Given the description of an element on the screen output the (x, y) to click on. 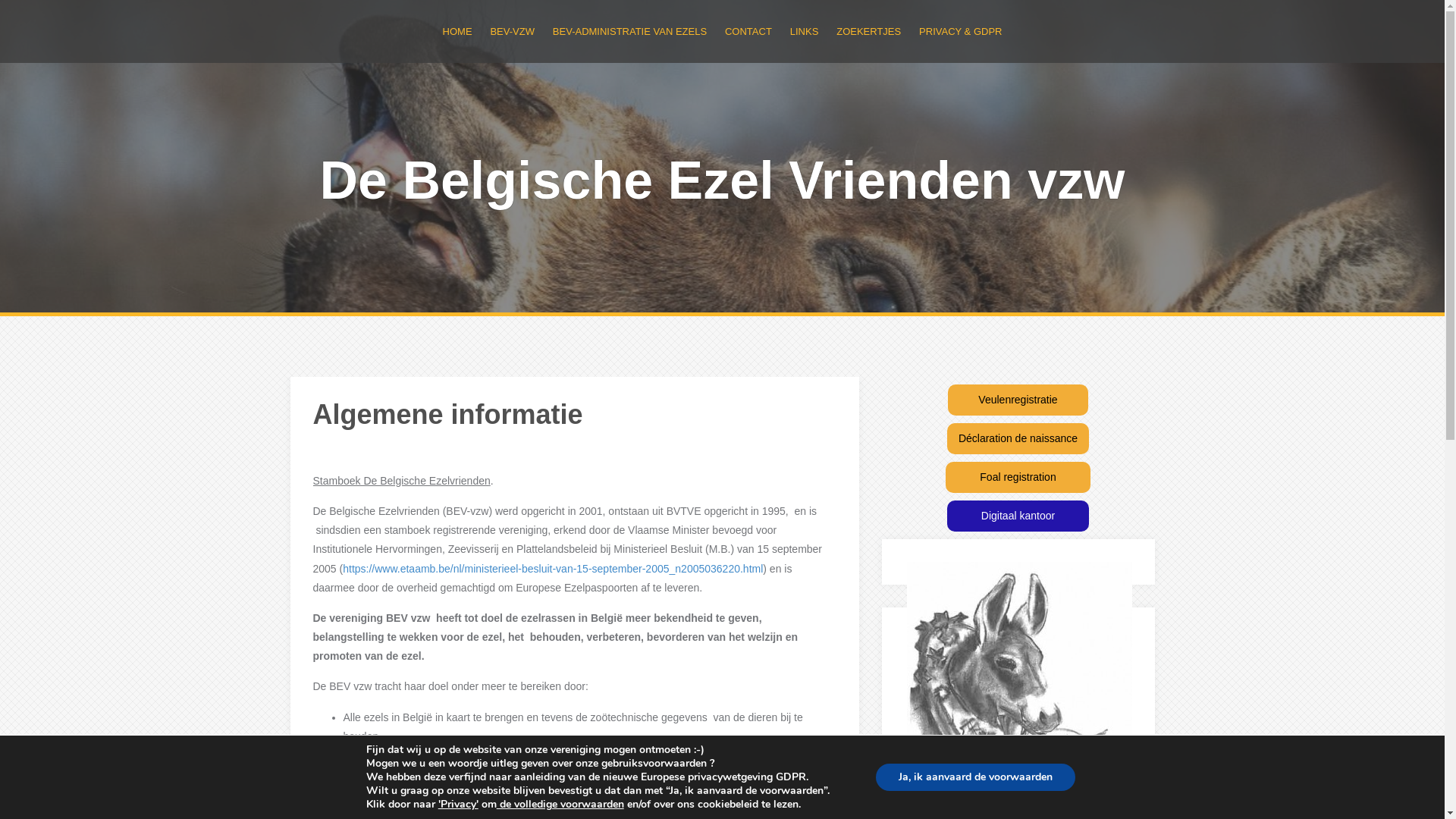
HOME Element type: text (457, 31)
Digitaal kantoor Element type: text (1017, 515)
LINKS Element type: text (804, 31)
Veulenregistratie Element type: text (1017, 399)
BEV-ADMINISTRATIE VAN EZELS Element type: text (629, 31)
Foal registration Element type: text (1017, 476)
de volledige voorwaarden Element type: text (560, 804)
PRIVACY & GDPR Element type: text (960, 31)
'Privacy' Element type: text (458, 804)
CONTACT Element type: text (747, 31)
BEV-VZW Element type: text (511, 31)
Ja, ik aanvaard de voorwaarden Element type: text (975, 776)
ZOEKERTJES Element type: text (868, 31)
De Belgische Ezel Vrienden vzw Element type: text (721, 180)
